Given the description of an element on the screen output the (x, y) to click on. 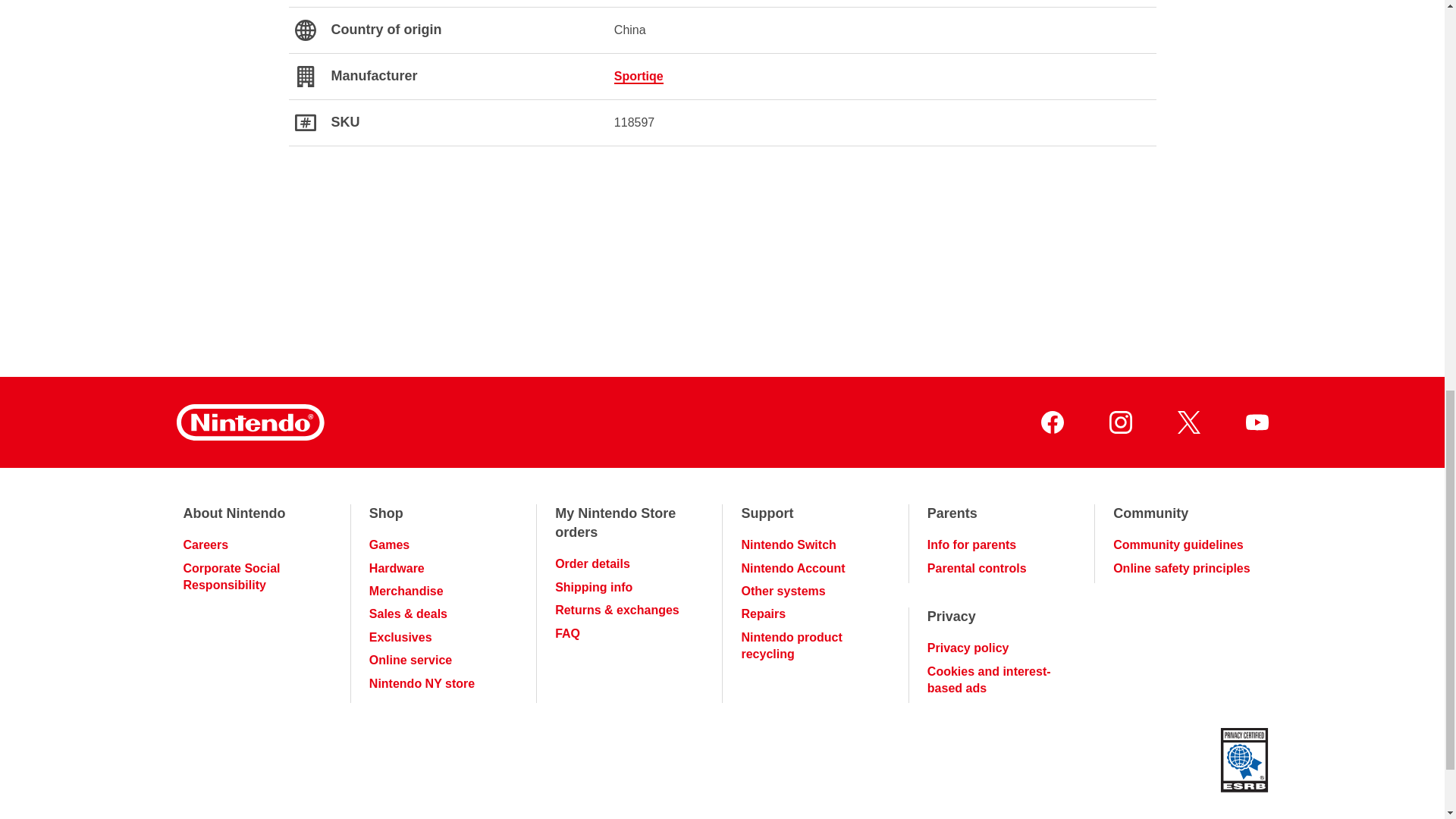
Nintendo on Facebook (1051, 422)
Nintendo on Instagram (1119, 422)
Nintendo Homepage (249, 422)
Nintendo on Twitter (1187, 422)
Nintendo on YouTube (1256, 422)
